Given the description of an element on the screen output the (x, y) to click on. 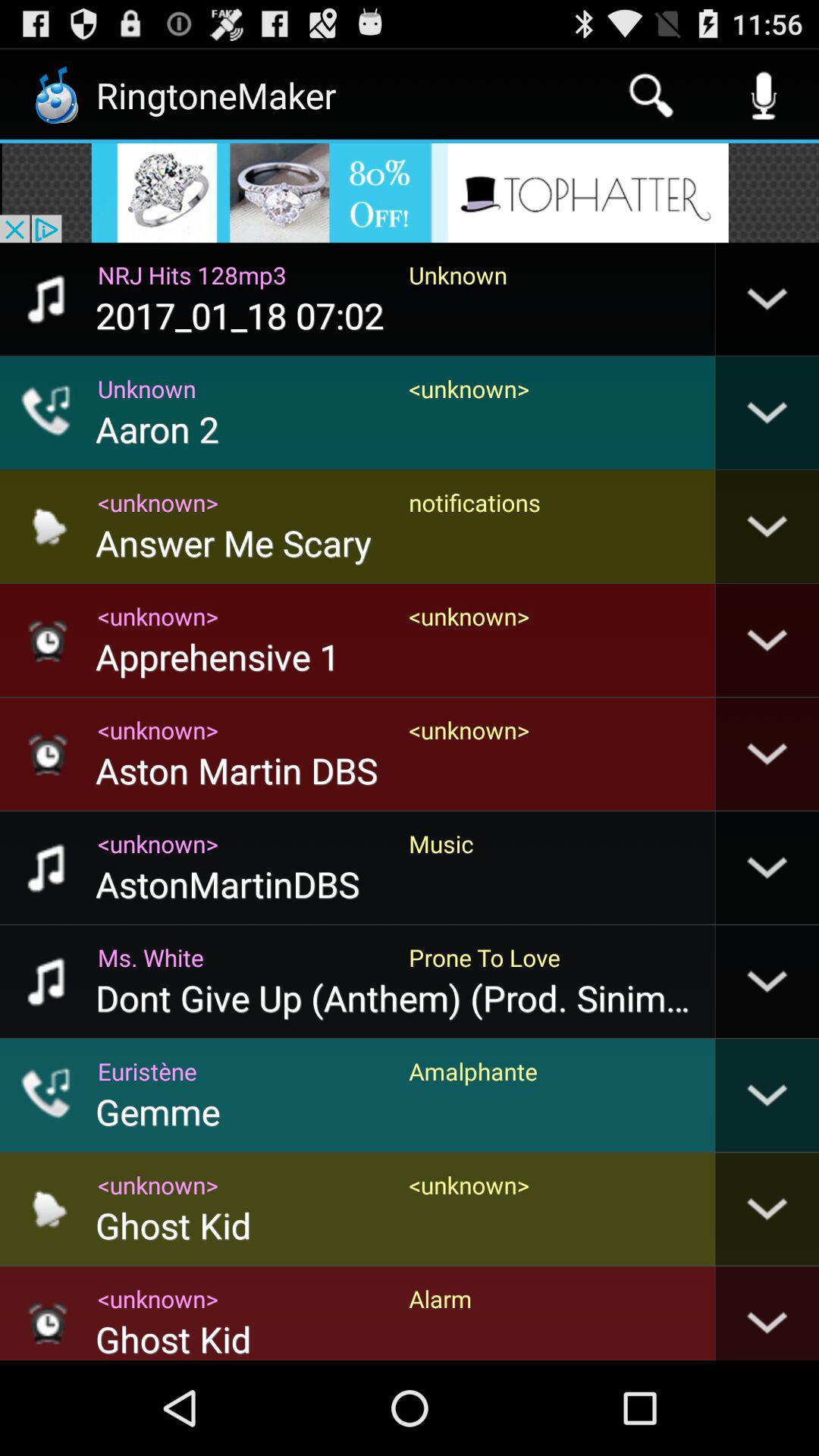
add icone (409, 192)
